Given the description of an element on the screen output the (x, y) to click on. 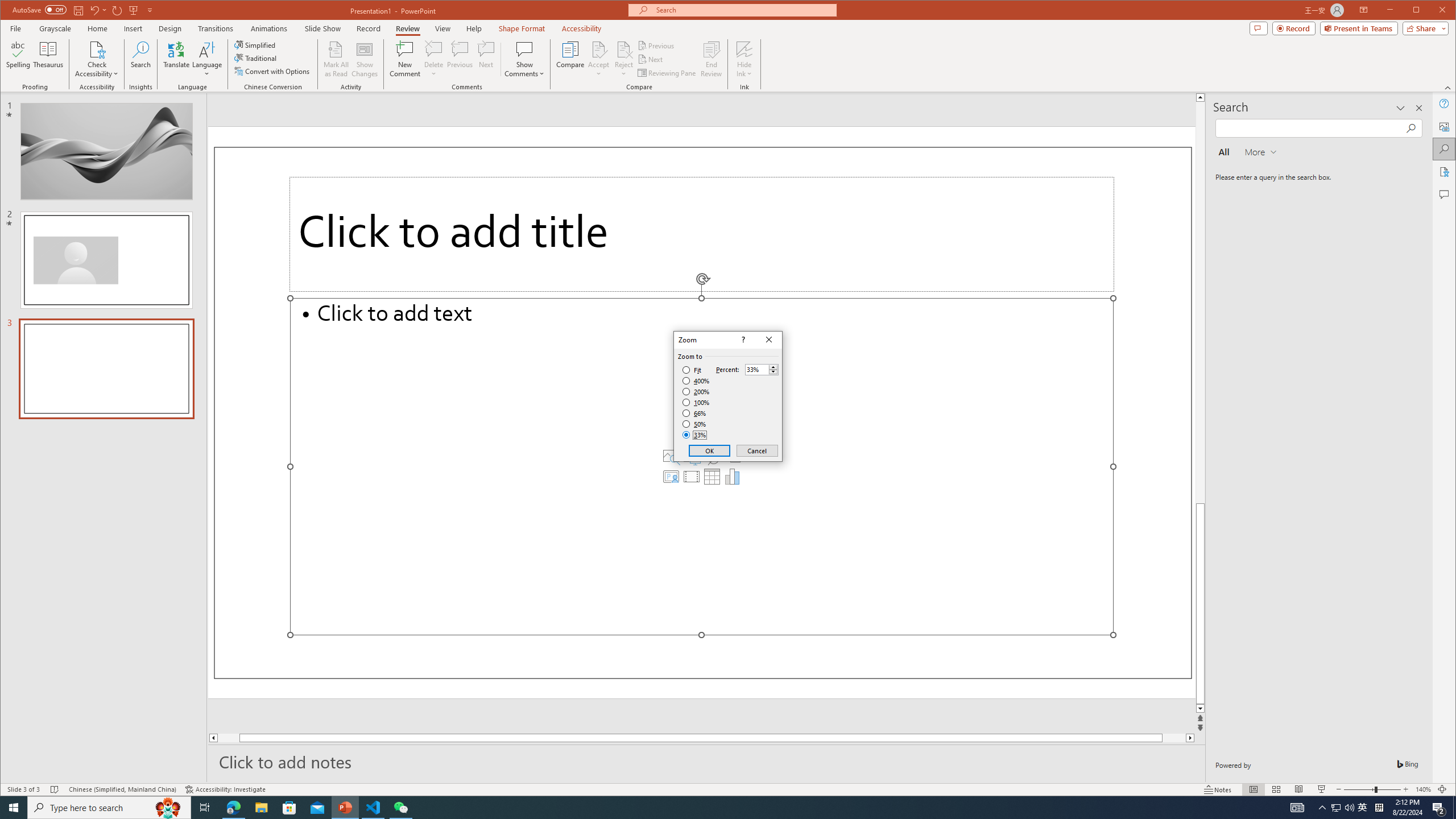
33% (694, 434)
Simplified (255, 44)
Insert Table (711, 476)
Percent (756, 369)
Cancel (756, 450)
Insert Cameo (670, 476)
